Given the description of an element on the screen output the (x, y) to click on. 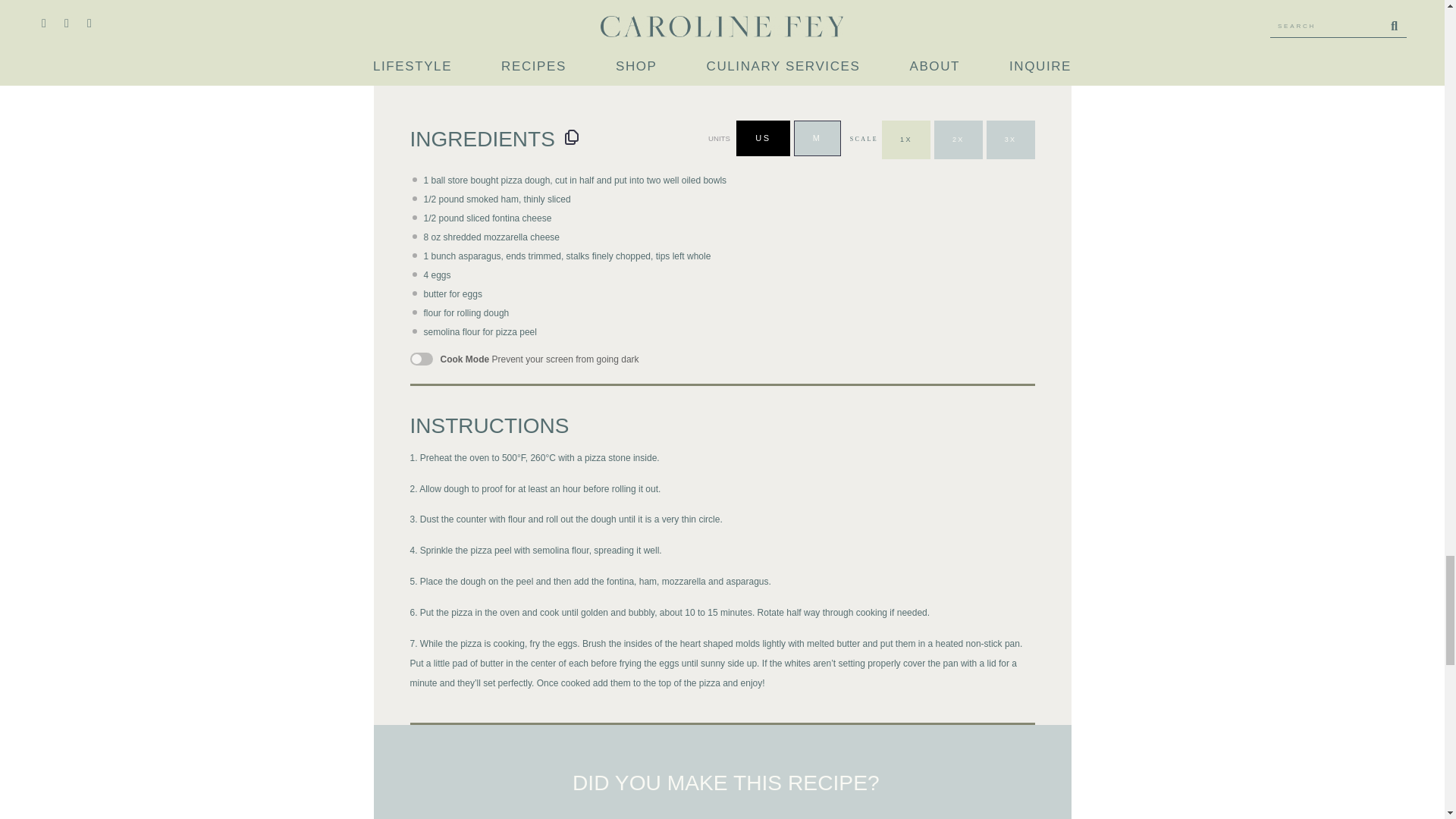
COPY TO CLIPBOARD COPY TO CLIPBOARD (571, 136)
